Given the description of an element on the screen output the (x, y) to click on. 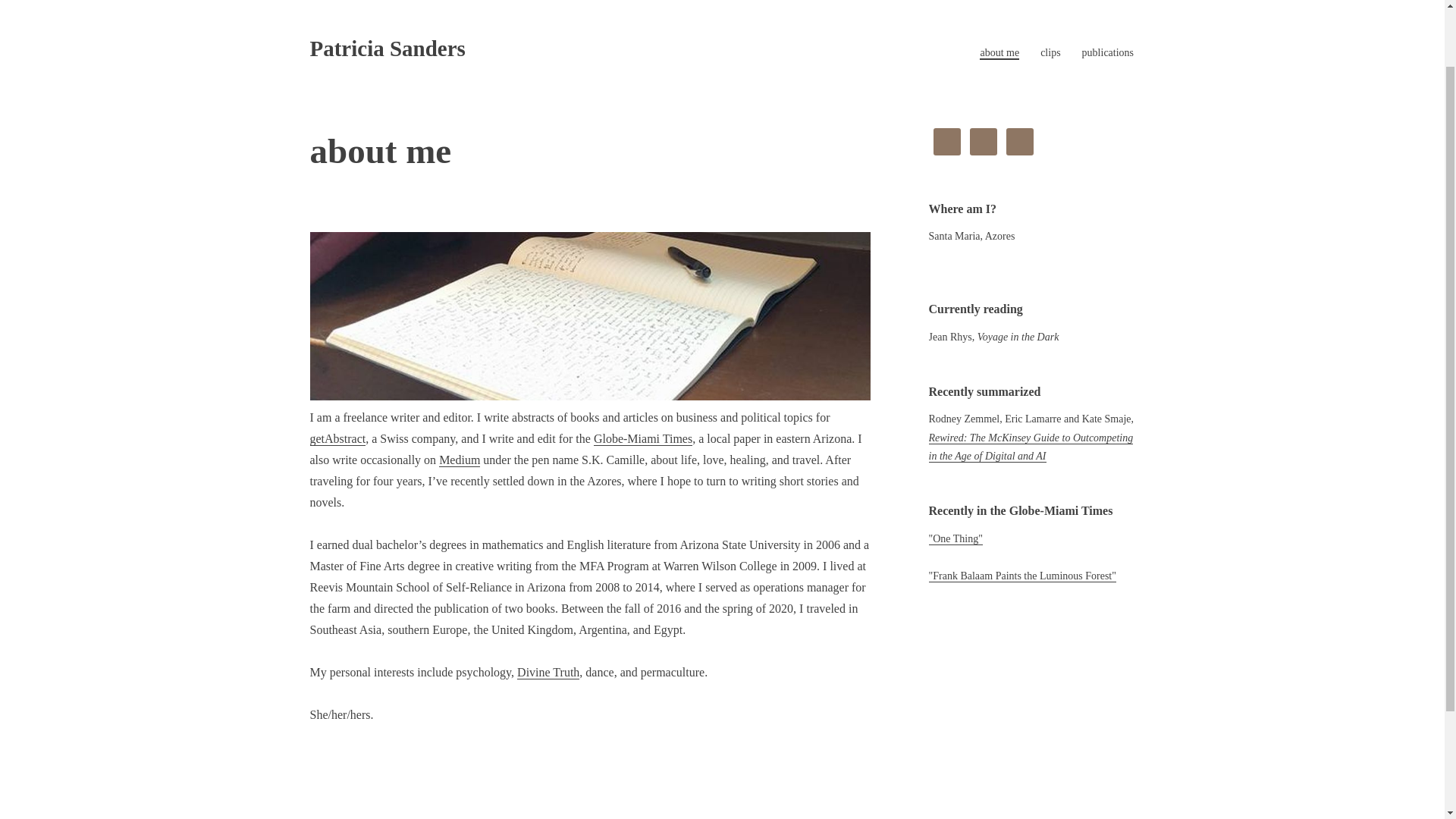
Patricia Sanders (386, 48)
"One Thing" (954, 539)
publications (1107, 52)
Divine Truth (547, 672)
Medium (459, 459)
"Frank Balaam Paints the Luminous Forest" (1021, 576)
clips (1050, 52)
about me (999, 52)
